Given the description of an element on the screen output the (x, y) to click on. 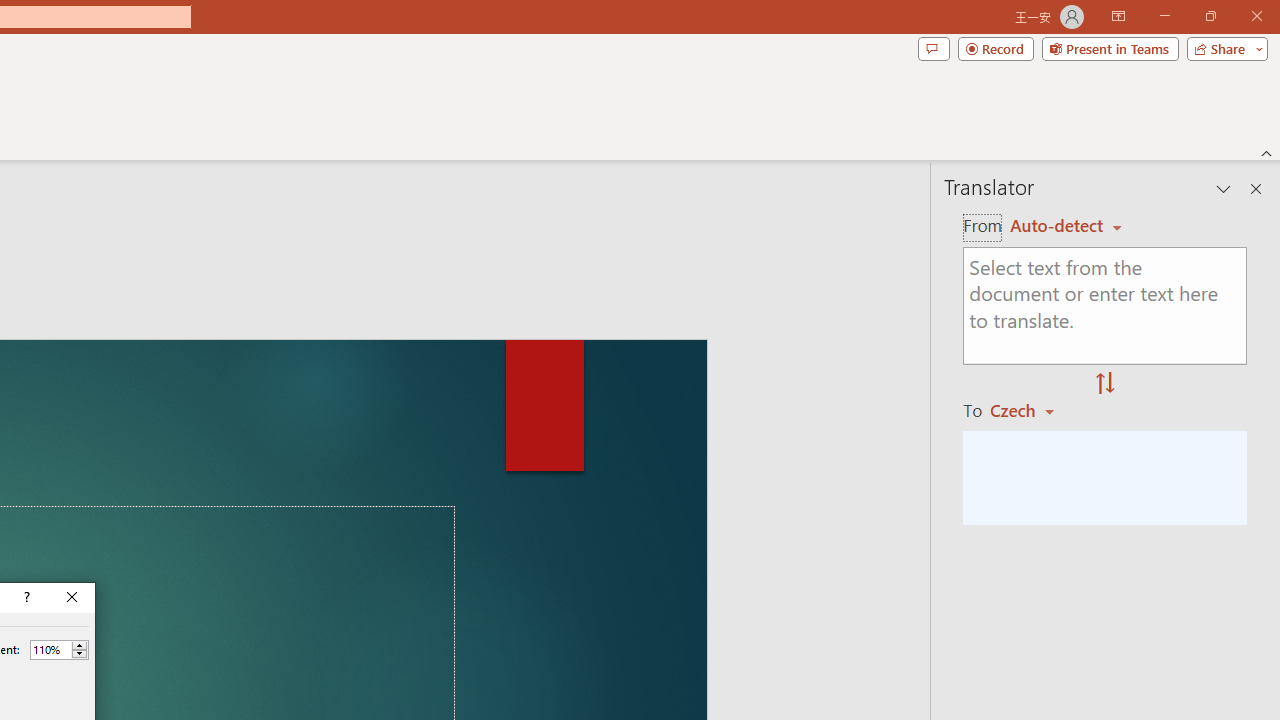
Auto-detect (1066, 225)
Percent (59, 650)
Swap "from" and "to" languages. (1105, 383)
